Given the description of an element on the screen output the (x, y) to click on. 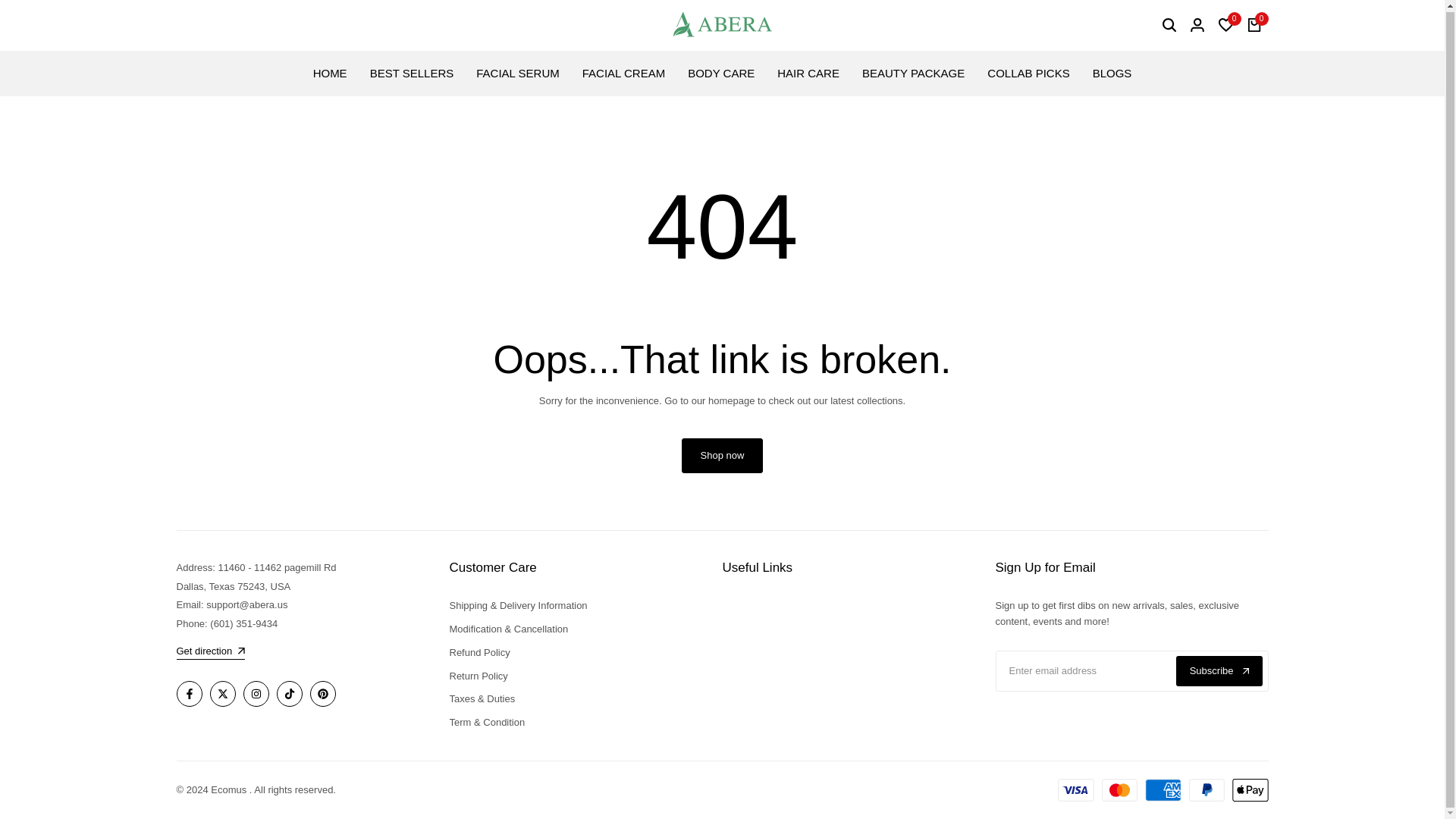
Skip to content (7, 2)
Refund Policy (478, 652)
FACIAL SERUM (517, 73)
Get direction (210, 652)
Facebook (189, 693)
0 (1253, 24)
BLOGS (1112, 73)
Return Policy (477, 675)
Shop now (721, 455)
Pinterest (321, 693)
